Given the description of an element on the screen output the (x, y) to click on. 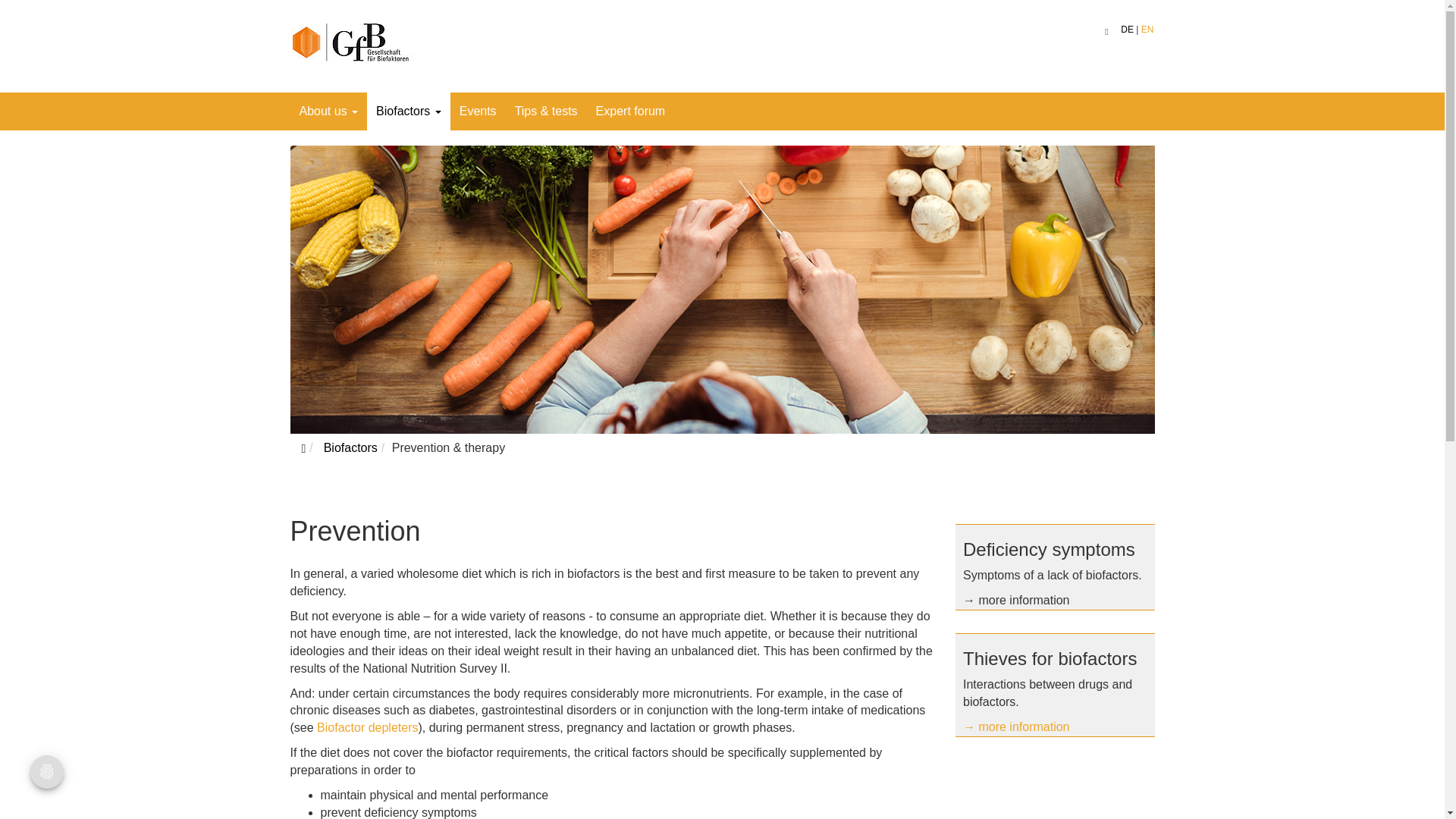
Biofactors (350, 447)
About us (327, 111)
DE (1127, 29)
EN (1147, 29)
Events (477, 111)
Biofactor depleters (367, 727)
Expert forum (630, 111)
Biofactors (407, 111)
